Given the description of an element on the screen output the (x, y) to click on. 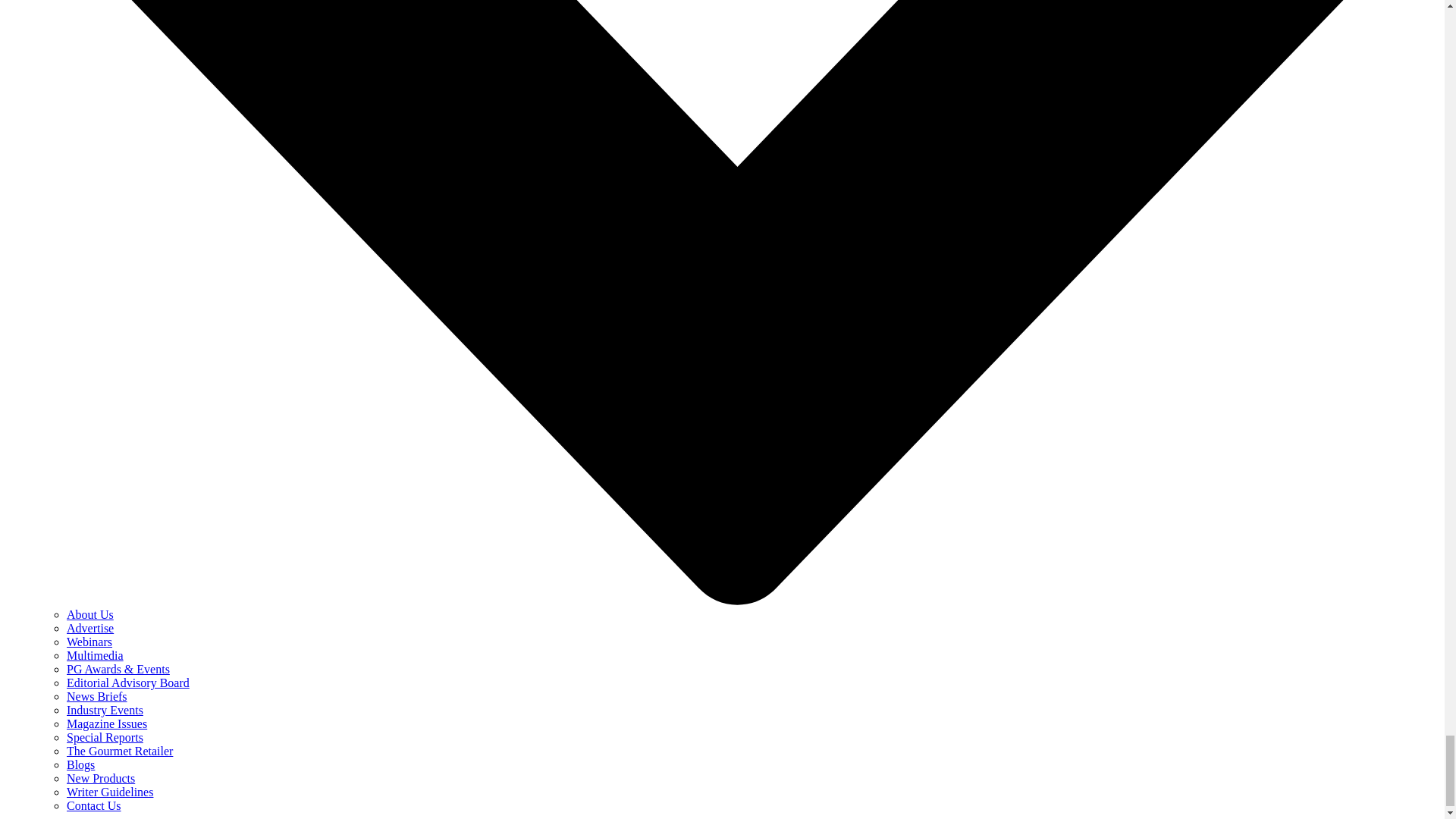
Editorial Advisory Board (127, 682)
Webinars (89, 641)
Special Reports (104, 737)
Advertise (89, 627)
Magazine Issues (106, 723)
Multimedia (94, 655)
About Us (89, 614)
Industry Events (104, 709)
News Briefs (97, 696)
